Given the description of an element on the screen output the (x, y) to click on. 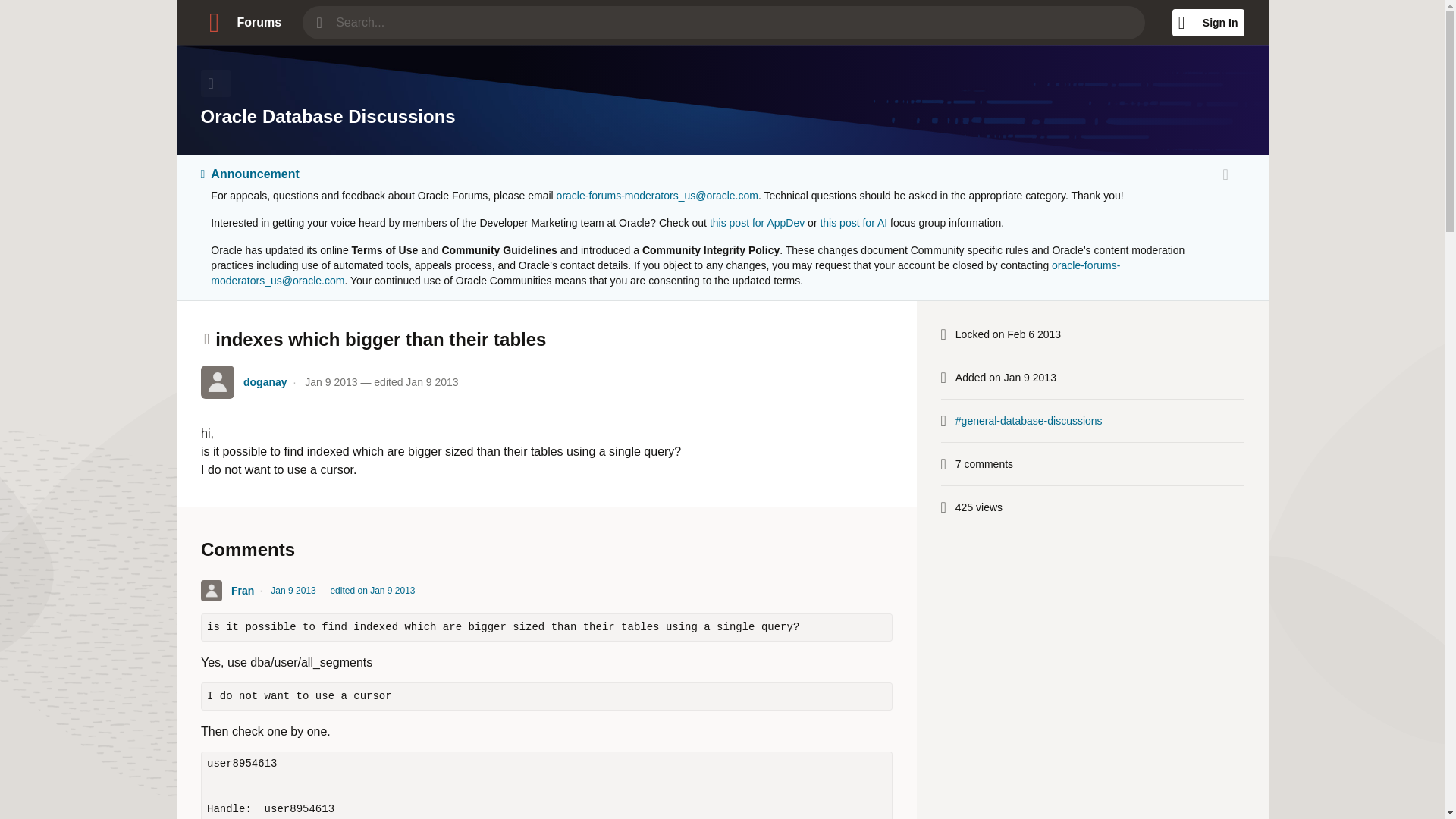
Go back (215, 83)
9 Jan 2013 03:41 am (381, 381)
doganay (264, 381)
this post for AppDev (757, 223)
Go back (215, 83)
Fran's Profile Page (210, 590)
9 Jan 2013 04:02 am (342, 590)
Sign In (1208, 22)
this post for AI (852, 223)
Edited on 9 Jan 2013 04:04 am (372, 590)
